Given the description of an element on the screen output the (x, y) to click on. 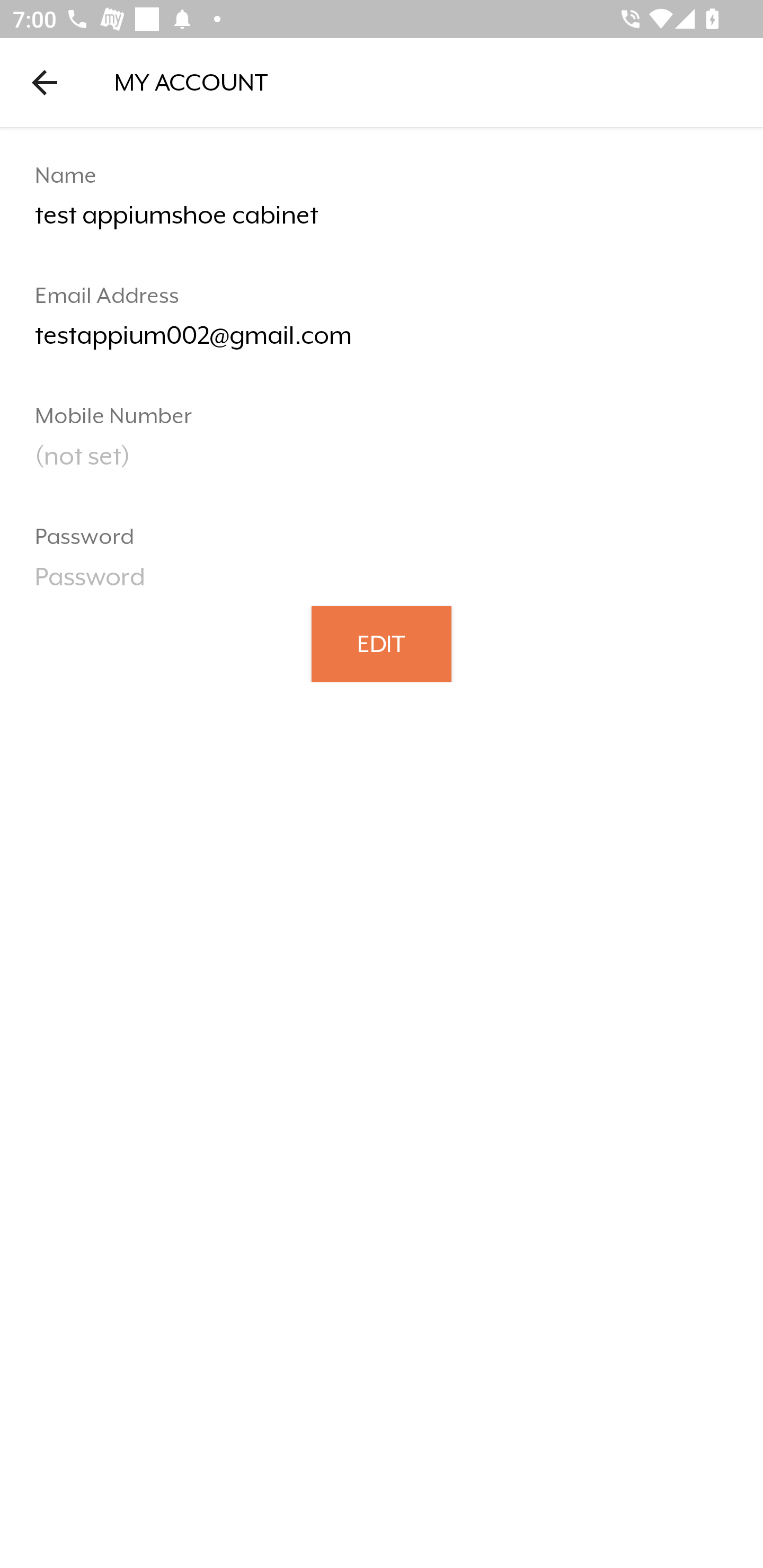
Navigate up (44, 82)
test appiumshoe cabinet (381, 222)
testappium002@gmail.com (381, 342)
Password (381, 583)
EDIT (381, 643)
